Given the description of an element on the screen output the (x, y) to click on. 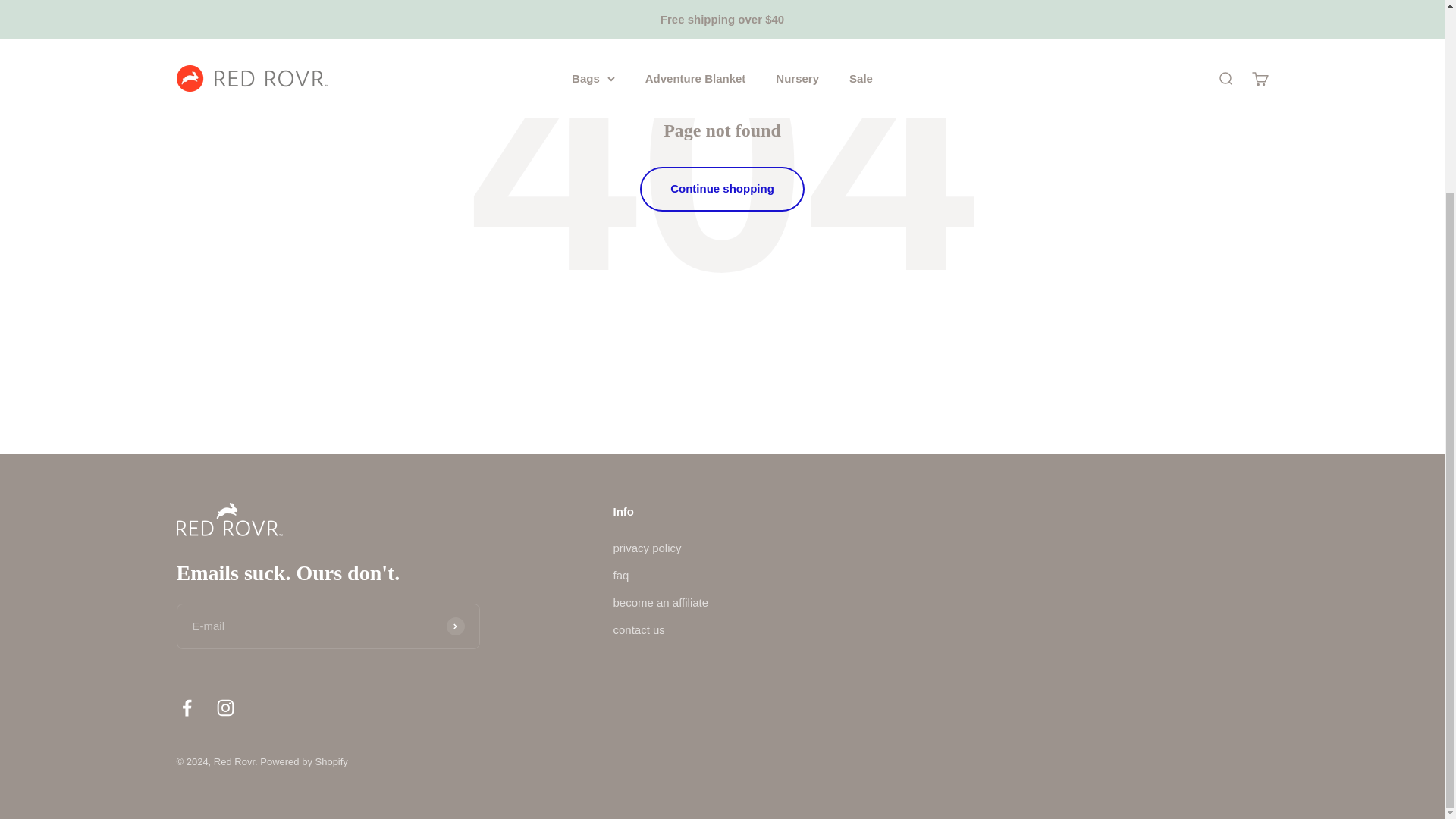
become an affiliate (659, 602)
privacy policy (646, 547)
Subscribe (454, 626)
Powered by Shopify (303, 761)
Continue shopping (722, 188)
contact us (637, 629)
